Given the description of an element on the screen output the (x, y) to click on. 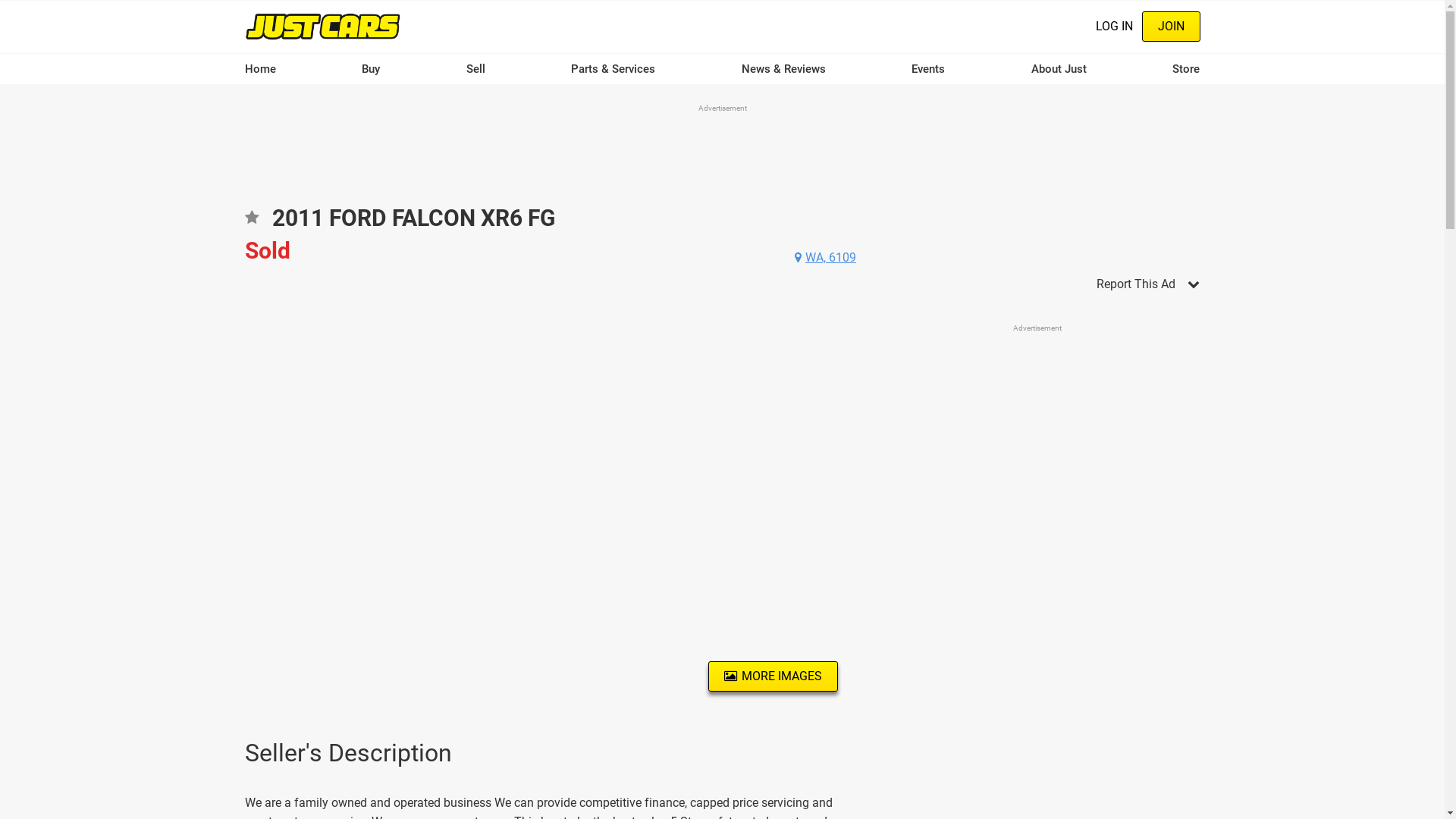
Events Element type: text (927, 68)
About Just Element type: text (1058, 68)
News & Reviews Element type: text (783, 68)
Parts & Services Element type: text (613, 68)
JOIN Element type: text (1171, 26)
LOG IN Element type: text (1113, 26)
Home Element type: text (259, 68)
Sell Element type: text (475, 68)
Skip to main content Element type: text (0, 0)
Add to favourites Element type: text (250, 222)
WA, 6109 Element type: text (825, 257)
Store Element type: text (1185, 68)
Buy Element type: text (370, 68)
Home Element type: hover (321, 25)
